Given the description of an element on the screen output the (x, y) to click on. 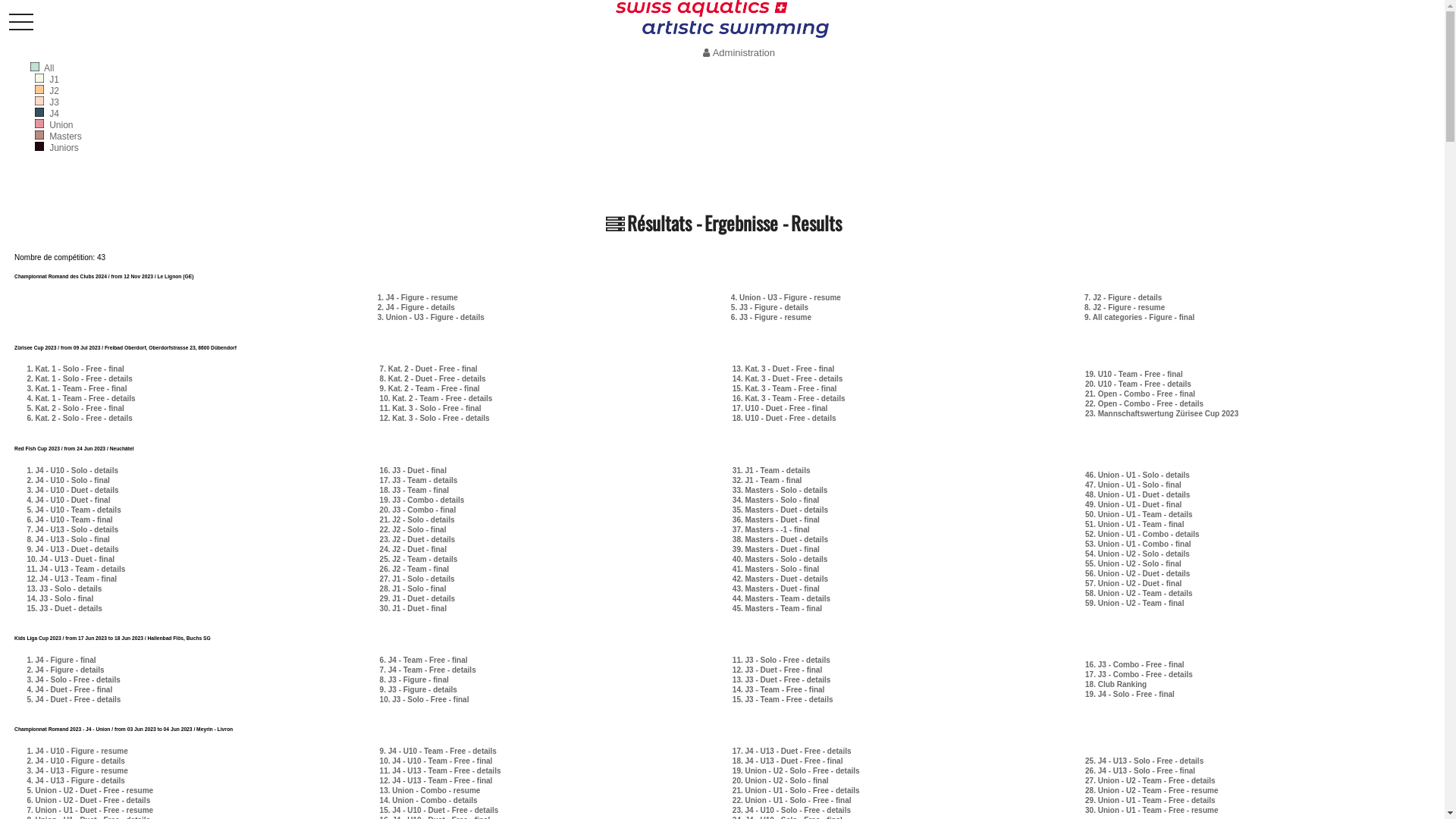
20. Union - U2 - Solo - final Element type: text (780, 780)
25. J4 - U13 - Solo - Free - details Element type: text (1144, 760)
17. J3 - Team - details Element type: text (418, 480)
54. Union - U2 - Solo - details Element type: text (1137, 553)
47. Union - U1 - Solo - final Element type: text (1133, 484)
1. J4 - U10 - Solo - details Element type: text (72, 470)
3. Union - U3 - Figure - details Element type: text (430, 317)
42. Masters - Duet - details Element type: text (780, 578)
J2 Element type: text (54, 90)
19. J4 - Solo - Free - final Element type: text (1129, 694)
25. J2 - Team - details Element type: text (418, 559)
24. J2 - Duet - final Element type: text (412, 549)
16. Kat. 3 - Team - Free - details Element type: text (788, 398)
19. Union - U2 - Solo - Free - details Element type: text (795, 770)
4. Kat. 1 - Team - Free - details Element type: text (80, 398)
18. J4 - U13 - Duet - Free - final Element type: text (787, 760)
3. J4 - Solo - Free - details Element type: text (72, 679)
33. Masters - Solo - details Element type: text (780, 490)
7. J4 - U13 - Solo - details Element type: text (72, 529)
6. J4 - U10 - Team - final Element type: text (69, 519)
5. J4 - U10 - Team - details Element type: text (73, 509)
17. U10 - Duet - Free - final Element type: text (780, 408)
29. J1 - Duet - details Element type: text (417, 598)
59. Union - U2 - Team - final Element type: text (1134, 603)
46. Union - U1 - Solo - details Element type: text (1137, 474)
7. Kat. 2 - Duet - Free - final Element type: text (428, 368)
30. Union - U1 - Team - Free - resume Element type: text (1151, 810)
21. J2 - Solo - details Element type: text (417, 519)
23. J2 - Duet - details Element type: text (417, 539)
21. Open - Combo - Free - final Element type: text (1140, 393)
52. Union - U1 - Combo - details Element type: text (1142, 534)
32. J1 - Team - final Element type: text (767, 480)
49. Union - U1 - Duet - final Element type: text (1133, 504)
38. Masters - Duet - details Element type: text (780, 539)
1. J4 - Figure - resume Element type: text (417, 297)
43. Masters - Duet - final Element type: text (775, 588)
13. Union - Combo - resume Element type: text (429, 790)
13. Kat. 3 - Duet - Free - final Element type: text (783, 368)
12. J3 - Duet - Free - final Element type: text (777, 669)
16. J3 - Combo - Free - final Element type: text (1134, 664)
44. Masters - Team - details Element type: text (781, 598)
Administration Element type: text (737, 52)
1. Kat. 1 - Solo - Free - final Element type: text (74, 368)
7. J4 - Team - Free - details Element type: text (427, 669)
28. Union - U2 - Team - Free - resume Element type: text (1151, 790)
10. J4 - U10 - Team - Free - final Element type: text (435, 760)
19. U10 - Team - Free - final Element type: text (1134, 374)
56. Union - U2 - Duet - details Element type: text (1137, 573)
23. J4 - U10 - Solo - Free - details Element type: text (791, 810)
57. Union - U2 - Duet - final Element type: text (1133, 583)
4. Union - U3 - Figure - resume Element type: text (785, 297)
3. J4 - U10 - Duet - details Element type: text (72, 490)
27. Union - U2 - Team - Free - details Element type: text (1150, 780)
8. J2 - Figure - resume Element type: text (1124, 307)
8. Kat. 2 - Duet - Free - details Element type: text (432, 378)
22. Union - U1 - Solo - Free - final Element type: text (791, 800)
14. J3 - Team - Free - final Element type: text (778, 689)
Masters Element type: text (65, 136)
26. J2 - Team - final Element type: text (414, 568)
15. Kat. 3 - Team - Free - final Element type: text (784, 388)
1. J4 - U10 - Figure - resume Element type: text (76, 750)
5. Union - U2 - Duet - Free - resume Element type: text (89, 790)
All Element type: text (48, 67)
30. J1 - Duet - final Element type: text (412, 608)
22. J2 - Solo - final Element type: text (412, 529)
18. Club Ranking Element type: text (1115, 684)
6. J3 - Figure - resume Element type: text (771, 317)
6. Union - U2 - Duet - Free - details Element type: text (88, 800)
21. Union - U1 - Solo - Free - details Element type: text (795, 790)
50. Union - U1 - Team - details Element type: text (1138, 514)
6. Kat. 2 - Solo - Free - details Element type: text (78, 418)
2. J4 - Figure - details Element type: text (64, 669)
J4 Element type: text (54, 113)
10. J3 - Solo - Free - final Element type: text (424, 699)
7. J2 - Figure - details Element type: text (1122, 297)
12. J4 - U13 - Team - Free - final Element type: text (435, 780)
9. All categories - Figure - final Element type: text (1139, 317)
2. J4 - U10 - Figure - details Element type: text (75, 760)
1. J4 - Figure - final Element type: text (60, 659)
18. U10 - Duet - Free - details Element type: text (784, 418)
17. J4 - U13 - Duet - Free - details Element type: text (791, 750)
2. J4 - Figure - details Element type: text (416, 307)
13. J3 - Solo - details Element type: text (63, 588)
19. J3 - Combo - details Element type: text (421, 499)
14. Union - Combo - details Element type: text (428, 800)
9. Kat. 2 - Team - Free - final Element type: text (429, 388)
4. J4 - U10 - Duet - final Element type: text (67, 499)
3. Kat. 1 - Team - Free - final Element type: text (76, 388)
14. Kat. 3 - Duet - Free - details Element type: text (787, 378)
J3 Element type: text (54, 102)
3. J4 - U13 - Figure - resume Element type: text (76, 770)
15. J4 - U10 - Duet - Free - details Element type: text (438, 810)
51. Union - U1 - Team - final Element type: text (1134, 524)
9. J4 - U10 - Team - Free - details Element type: text (437, 750)
12. Kat. 3 - Solo - Free - details Element type: text (434, 418)
15. J3 - Team - Free - details Element type: text (782, 699)
4. J4 - U13 - Figure - details Element type: text (75, 780)
11. Kat. 3 - Solo - Free - final Element type: text (430, 408)
17. J3 - Combo - Free - details Element type: text (1138, 674)
28. J1 - Solo - final Element type: text (412, 588)
J1 Element type: text (54, 79)
29. Union - U1 - Team - Free - details Element type: text (1150, 800)
10. Kat. 2 - Team - Free - details Element type: text (435, 398)
20. J3 - Combo - final Element type: text (417, 509)
11. J4 - U13 - Team - Free - details Element type: text (440, 770)
8. J3 - Figure - final Element type: text (413, 679)
35. Masters - Duet - details Element type: text (780, 509)
9. J3 - Figure - details Element type: text (418, 689)
14. J3 - Solo - final Element type: text (59, 598)
11. J4 - U13 - Team - details Element type: text (75, 568)
34. Masters - Solo - final Element type: text (775, 499)
36. Masters - Duet - final Element type: text (775, 519)
39. Masters - Duet - final Element type: text (775, 549)
12. J4 - U13 - Team - final Element type: text (71, 578)
20. U10 - Team - Free - details Element type: text (1138, 383)
5. J3 - Figure - details Element type: text (769, 307)
13. J3 - Duet - Free - details Element type: text (781, 679)
7. Union - U1 - Duet - Free - resume Element type: text (89, 810)
6. J4 - Team - Free - final Element type: text (423, 659)
5. J4 - Duet - Free - details Element type: text (73, 699)
22. Open - Combo - Free - details Element type: text (1144, 403)
48. Union - U1 - Duet - details Element type: text (1137, 494)
58. Union - U2 - Team - details Element type: text (1138, 593)
27. J1 - Solo - details Element type: text (417, 578)
40. Masters - Solo - details Element type: text (780, 559)
5. Kat. 2 - Solo - Free - final Element type: text (74, 408)
16. J3 - Duet - final Element type: text (412, 470)
8. J4 - U13 - Solo - final Element type: text (67, 539)
9. J4 - U13 - Duet - details Element type: text (72, 549)
31. J1 - Team - details Element type: text (771, 470)
53. Union - U1 - Combo - final Element type: text (1137, 543)
45. Masters - Team - final Element type: text (777, 608)
11. J3 - Solo - Free - details Element type: text (781, 659)
37. Masters - -1 - final Element type: text (770, 529)
2. J4 - U10 - Solo - final Element type: text (67, 480)
26. J4 - U13 - Solo - Free - final Element type: text (1140, 770)
Union Element type: text (60, 124)
15. J3 - Duet - details Element type: text (63, 608)
55. Union - U2 - Solo - final Element type: text (1133, 563)
10. J4 - U13 - Duet - final Element type: text (70, 559)
18. J3 - Team - final Element type: text (414, 490)
41. Masters - Solo - final Element type: text (775, 568)
2. Kat. 1 - Solo - Free - details Element type: text (78, 378)
toggle navigation Element type: text (21, 22)
4. J4 - Duet - Free - final Element type: text (69, 689)
Juniors Element type: text (63, 147)
